Given the description of an element on the screen output the (x, y) to click on. 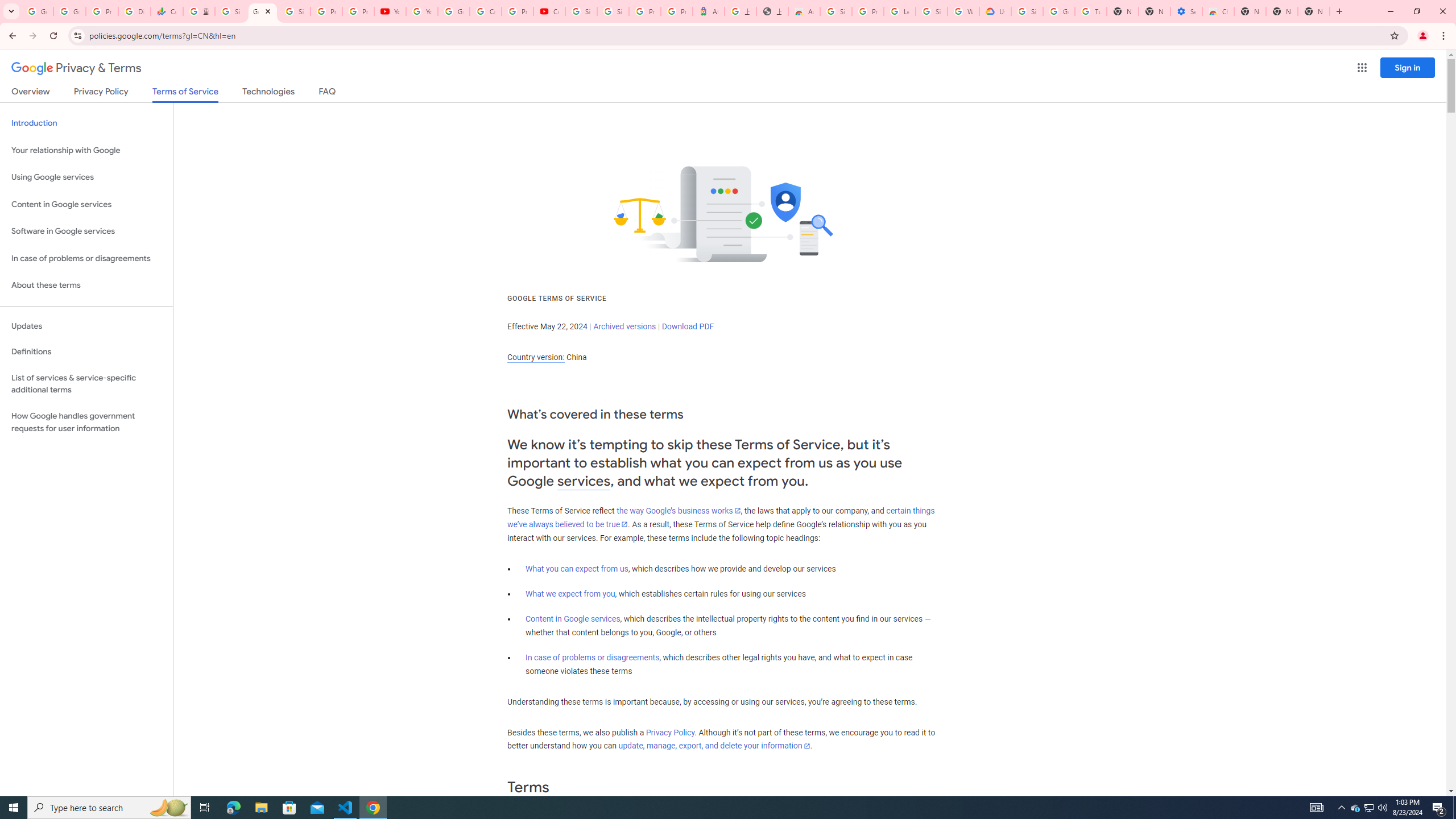
New Tab (1249, 11)
Content in Google services (572, 618)
Google Workspace Admin Community (37, 11)
update, manage, export, and delete your information (714, 746)
Privacy Checkup (358, 11)
Introduction (86, 122)
Sign in - Google Accounts (1027, 11)
